Given the description of an element on the screen output the (x, y) to click on. 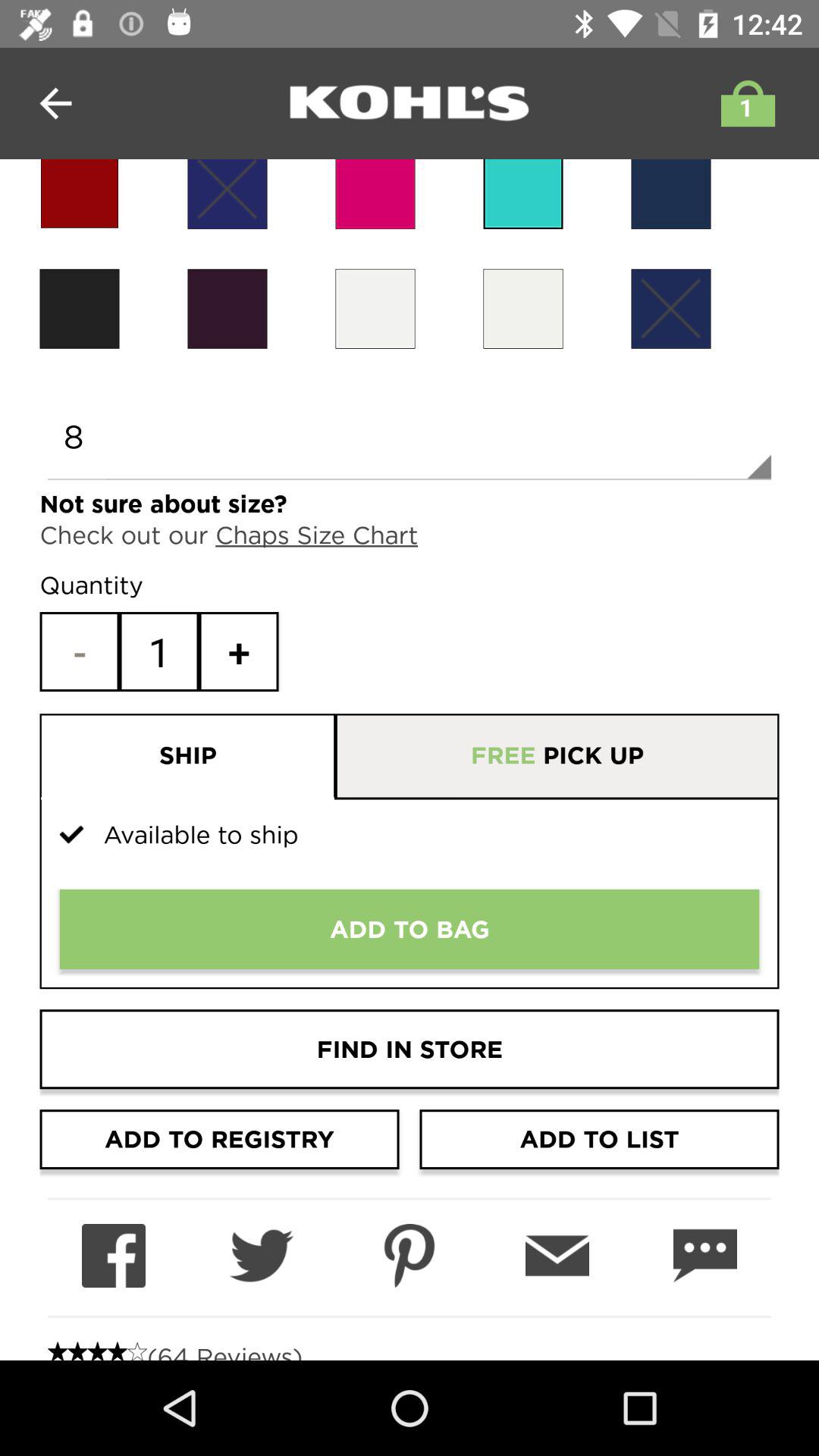
open the twitter page (261, 1255)
